Given the description of an element on the screen output the (x, y) to click on. 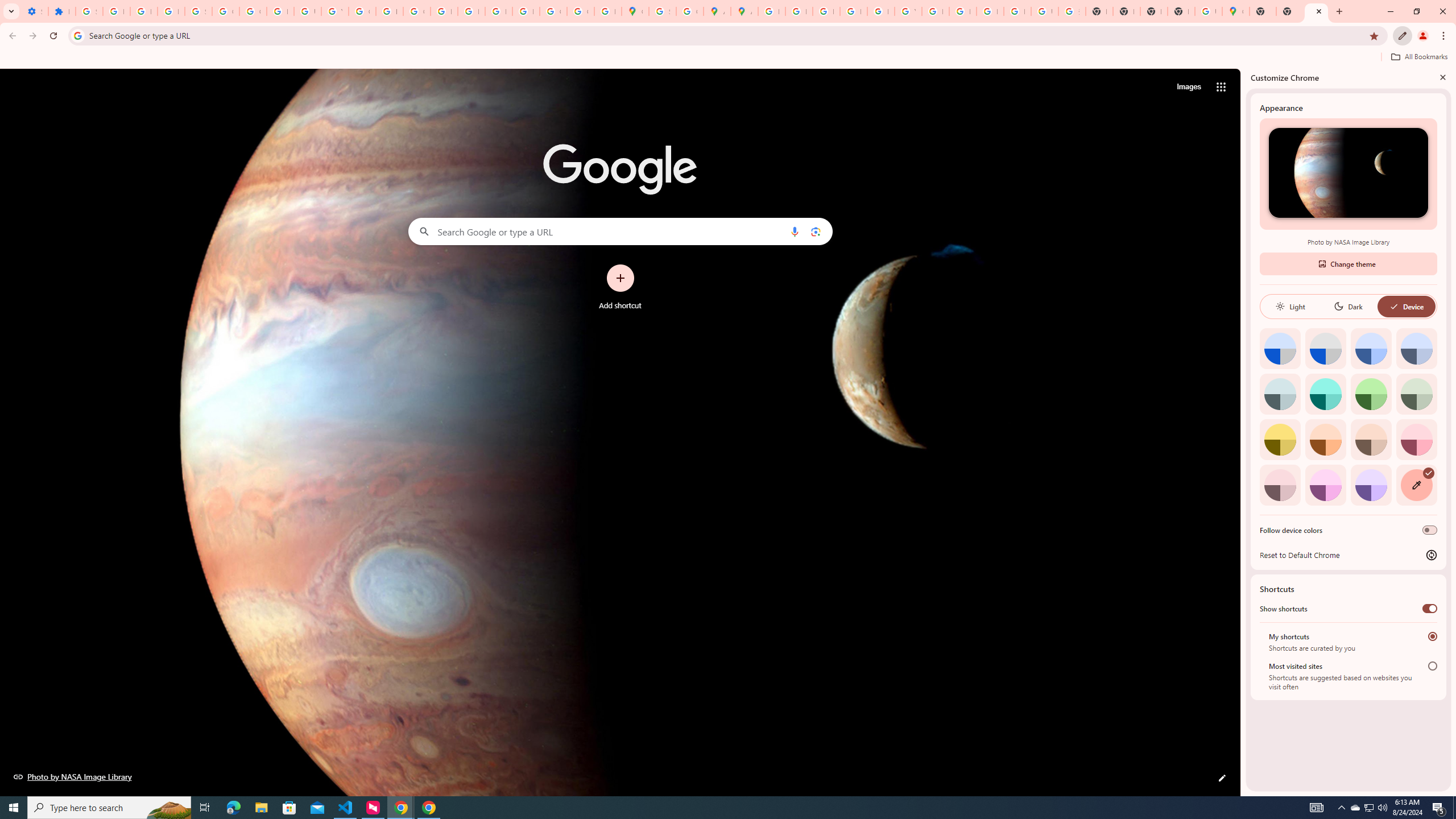
Search Google or type a URL (619, 230)
Sign in - Google Accounts (662, 11)
Custom color (1416, 484)
New Tab (1180, 11)
Pink (1279, 484)
Grey default color (1325, 348)
Sign in - Google Accounts (197, 11)
Create your Google Account (690, 11)
Apricot (1371, 439)
Privacy Help Center - Policies Help (444, 11)
